Given the description of an element on the screen output the (x, y) to click on. 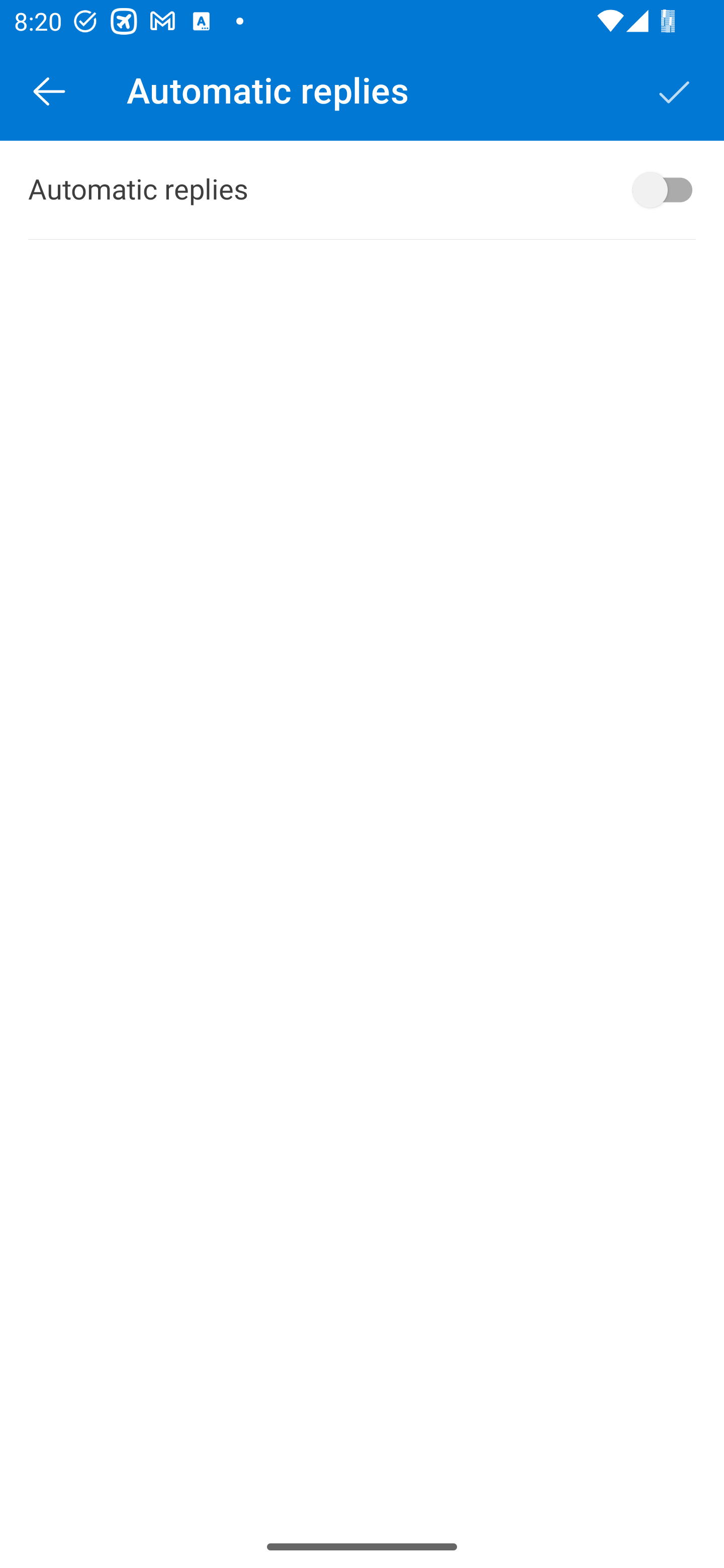
Back (49, 90)
Save (674, 90)
Automatic replies (362, 190)
